Given the description of an element on the screen output the (x, y) to click on. 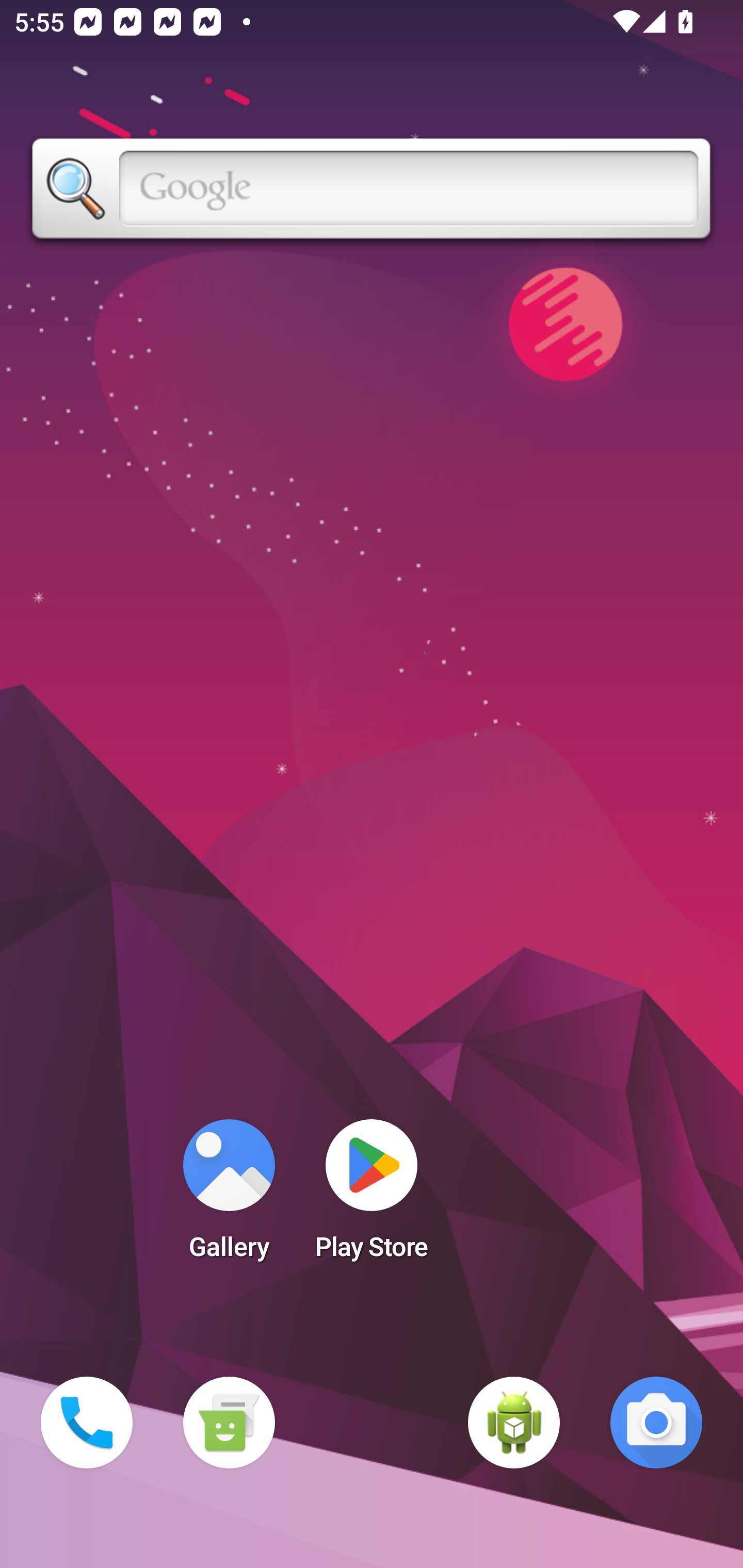
Gallery (228, 1195)
Play Store (371, 1195)
Phone (86, 1422)
Messaging (228, 1422)
WebView Browser Tester (513, 1422)
Camera (656, 1422)
